Given the description of an element on the screen output the (x, y) to click on. 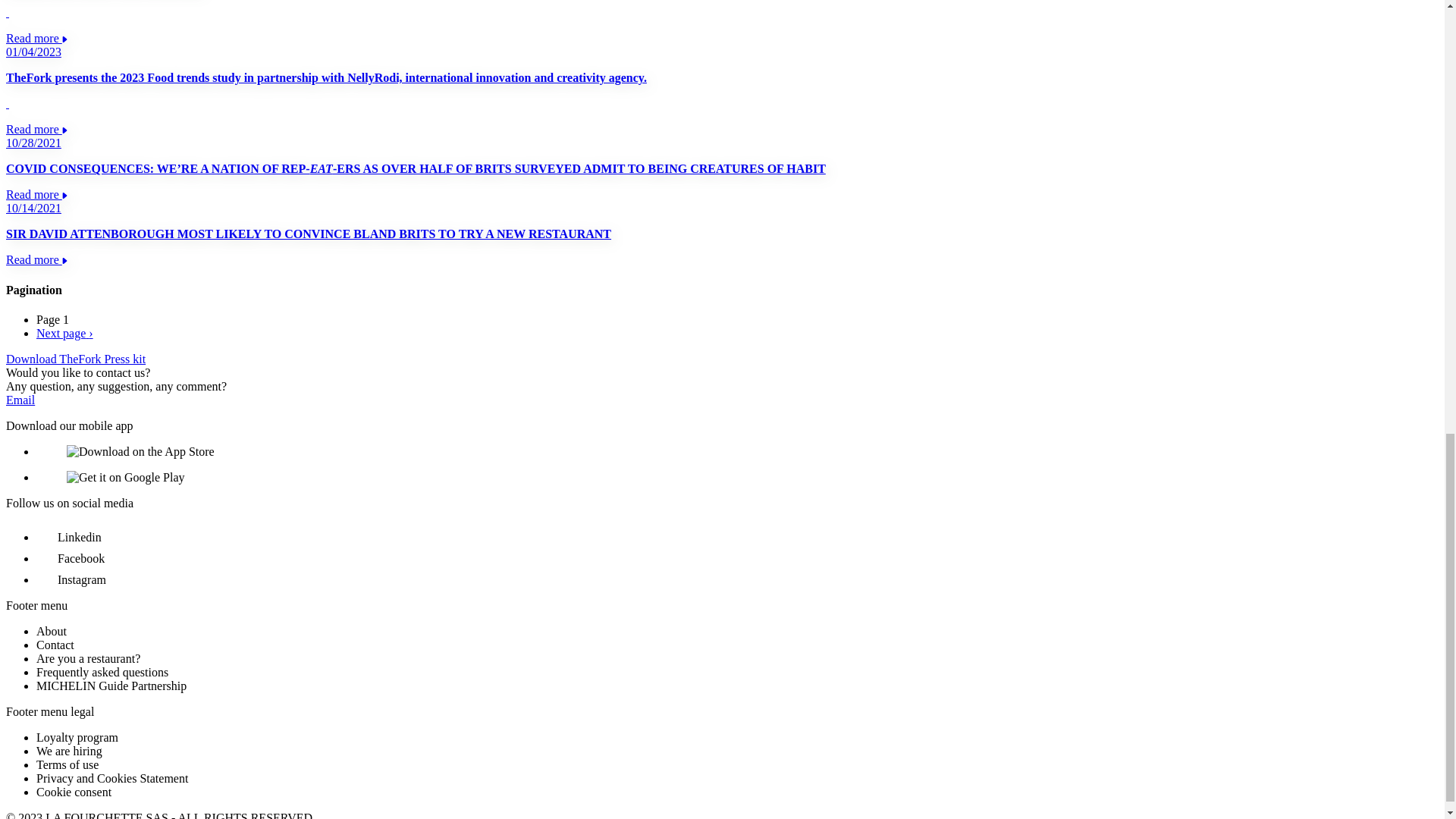
Email (19, 399)
Download TheFork Press kit (75, 358)
Go to next page (64, 332)
